Given the description of an element on the screen output the (x, y) to click on. 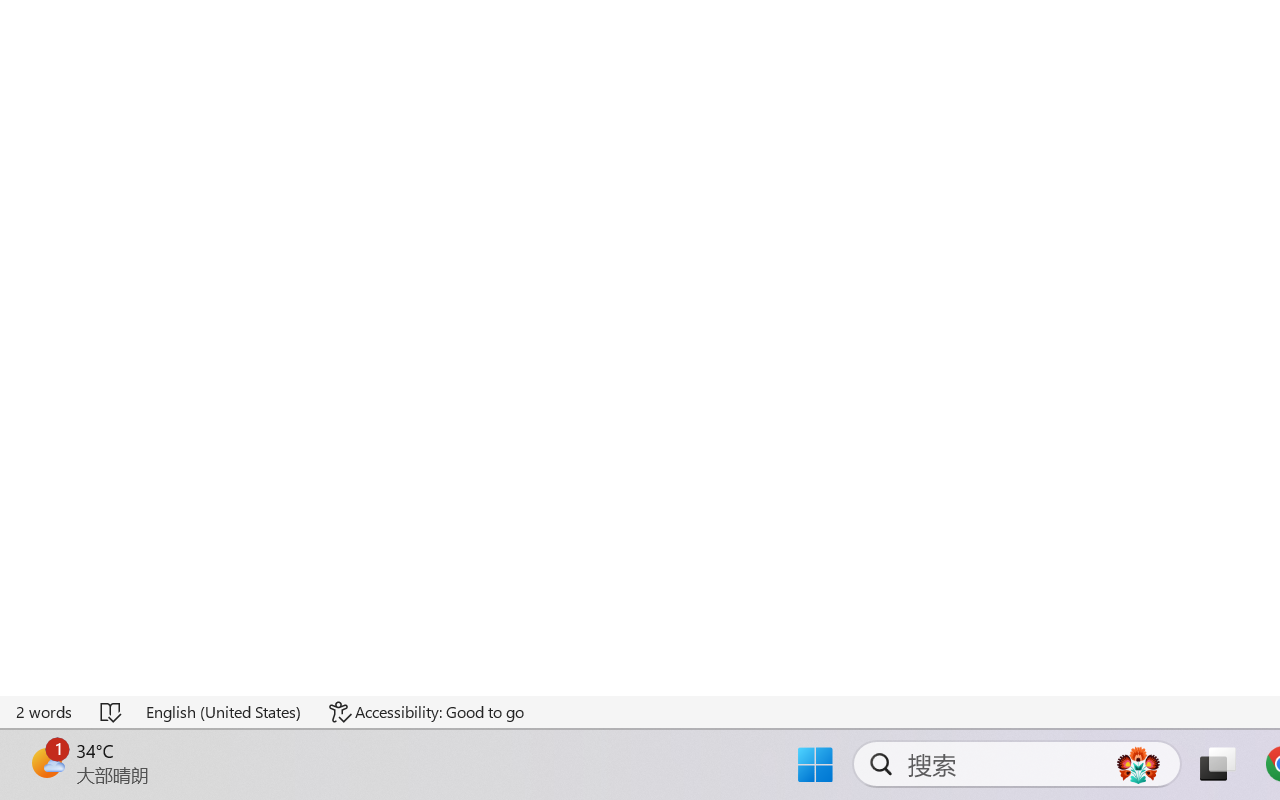
AutomationID: DynamicSearchBoxGleamImage (1138, 764)
AutomationID: BadgeAnchorLargeTicker (46, 762)
Language English (United States) (224, 712)
Spelling and Grammar Check No Errors (112, 712)
Word Count 2 words (45, 712)
Accessibility Checker Accessibility: Good to go (426, 712)
